Given the description of an element on the screen output the (x, y) to click on. 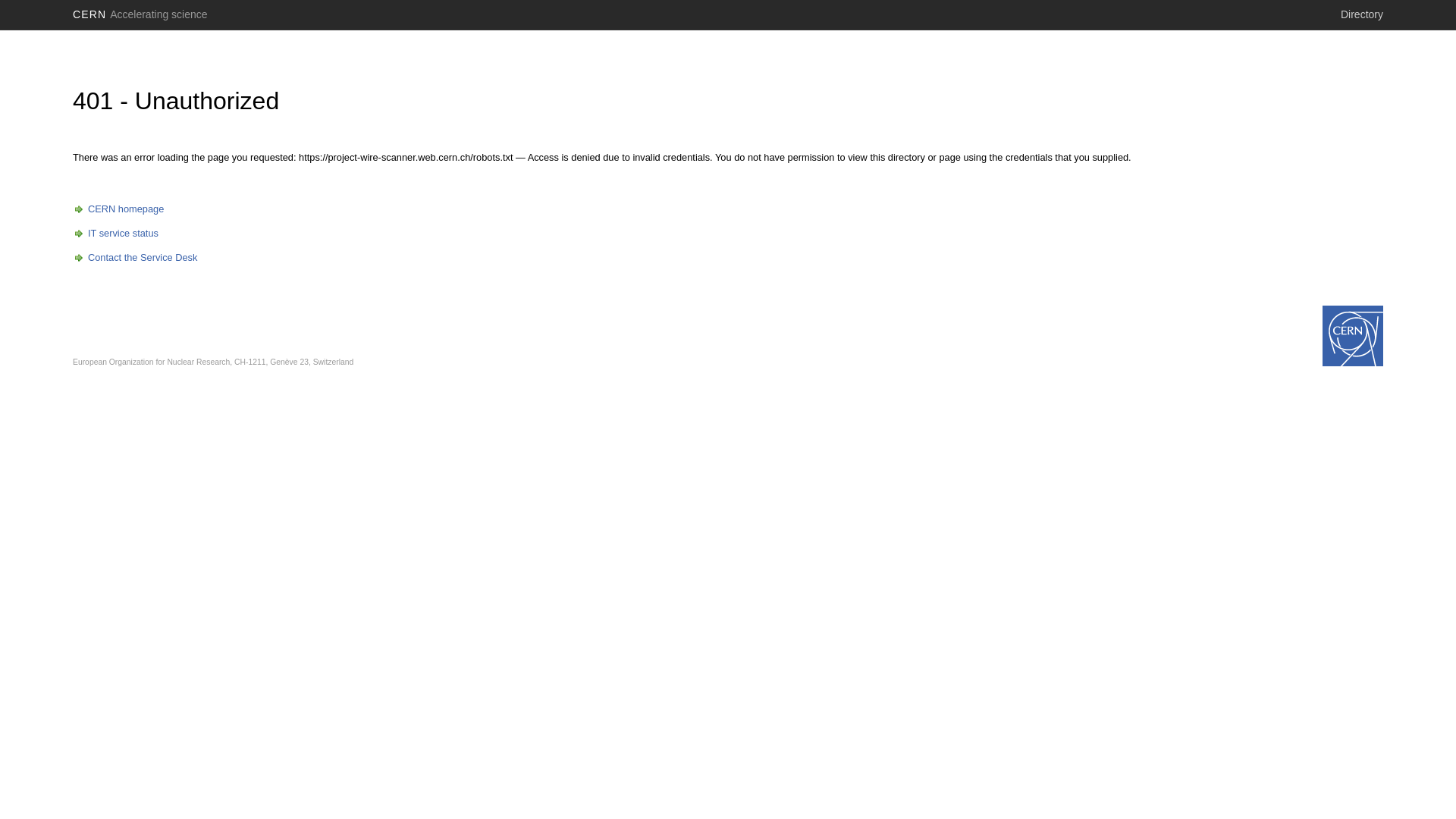
IT service status Element type: text (115, 232)
Directory Element type: text (1361, 14)
CERN homepage Element type: text (117, 208)
CERN Accelerating science Element type: text (139, 14)
Contact the Service Desk Element type: text (134, 257)
www.cern.ch Element type: hover (1352, 335)
